Given the description of an element on the screen output the (x, y) to click on. 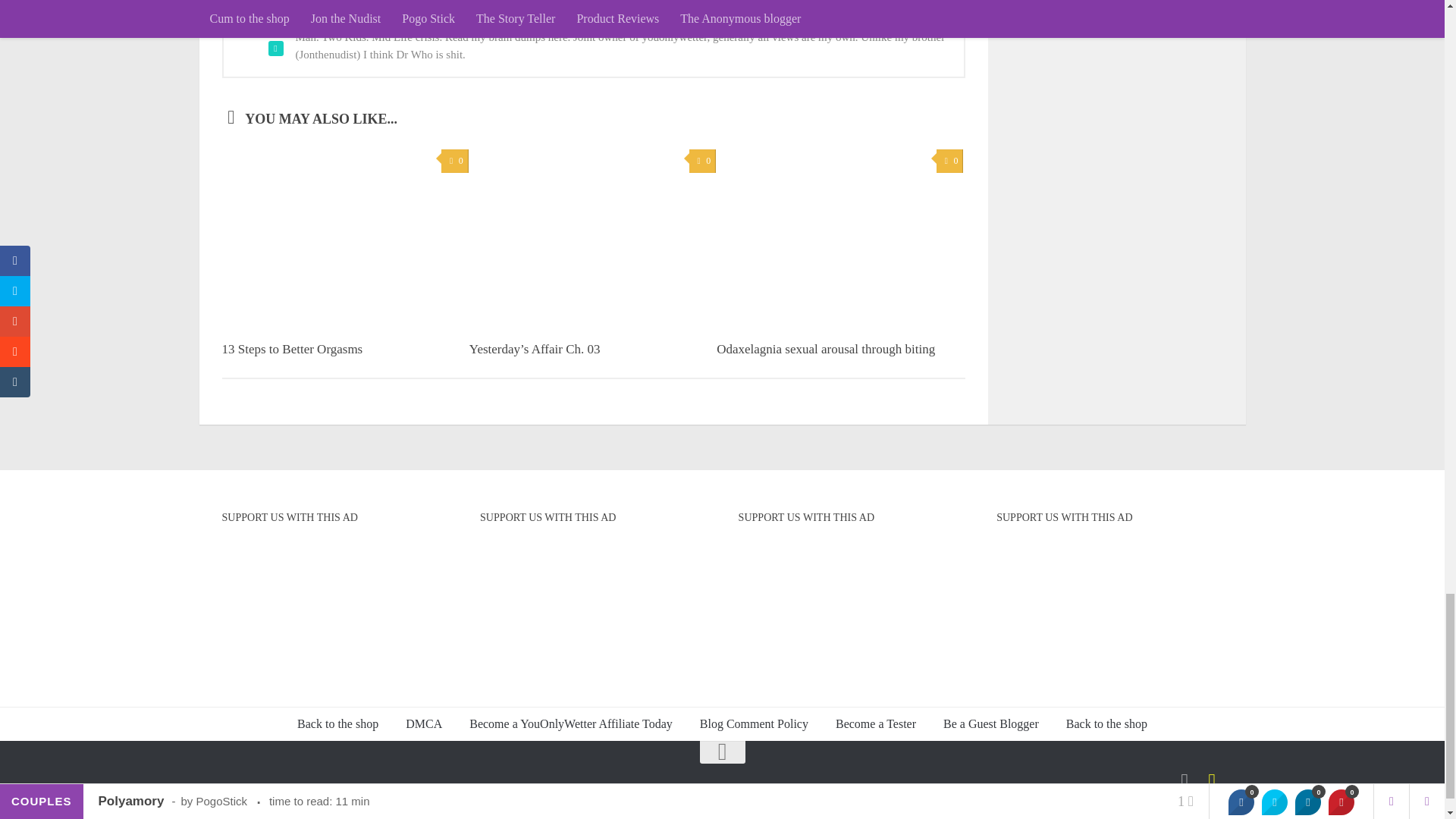
Follow us on Snapchat (1212, 781)
Follow us on Twitter (1184, 781)
